Given the description of an element on the screen output the (x, y) to click on. 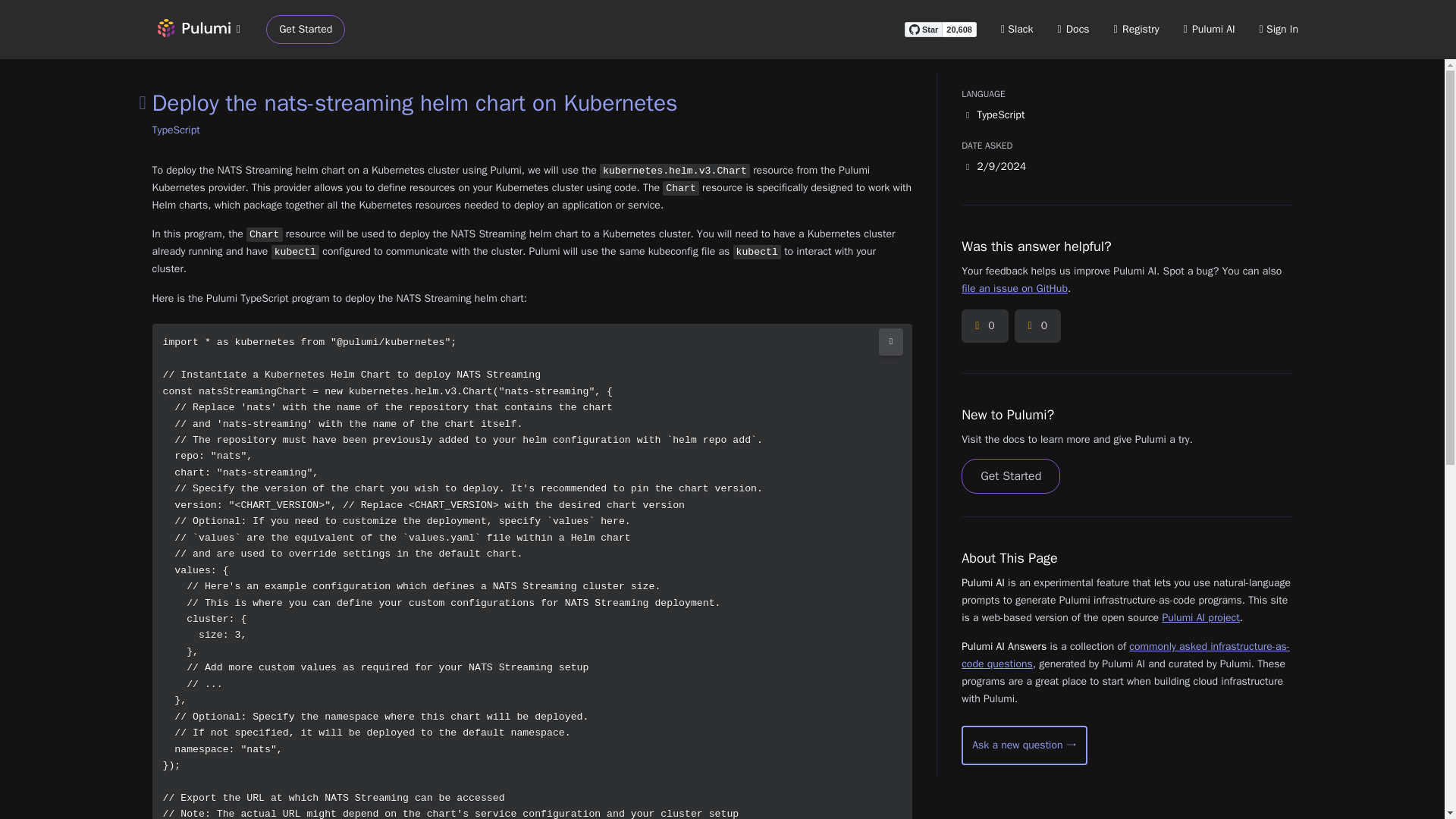
Sign In (1278, 29)
Downvote this answer (1037, 326)
0 (1037, 326)
Docs (1073, 29)
20,608 (959, 29)
 Star (923, 29)
Upvote this answer (984, 326)
Pulumi AI (1208, 29)
Slack (1017, 29)
0 (984, 326)
Registry (1135, 29)
Get Started (305, 29)
Start a new conversation with Pulumi AI (1023, 744)
file an issue on GitHub (1013, 287)
